Given the description of an element on the screen output the (x, y) to click on. 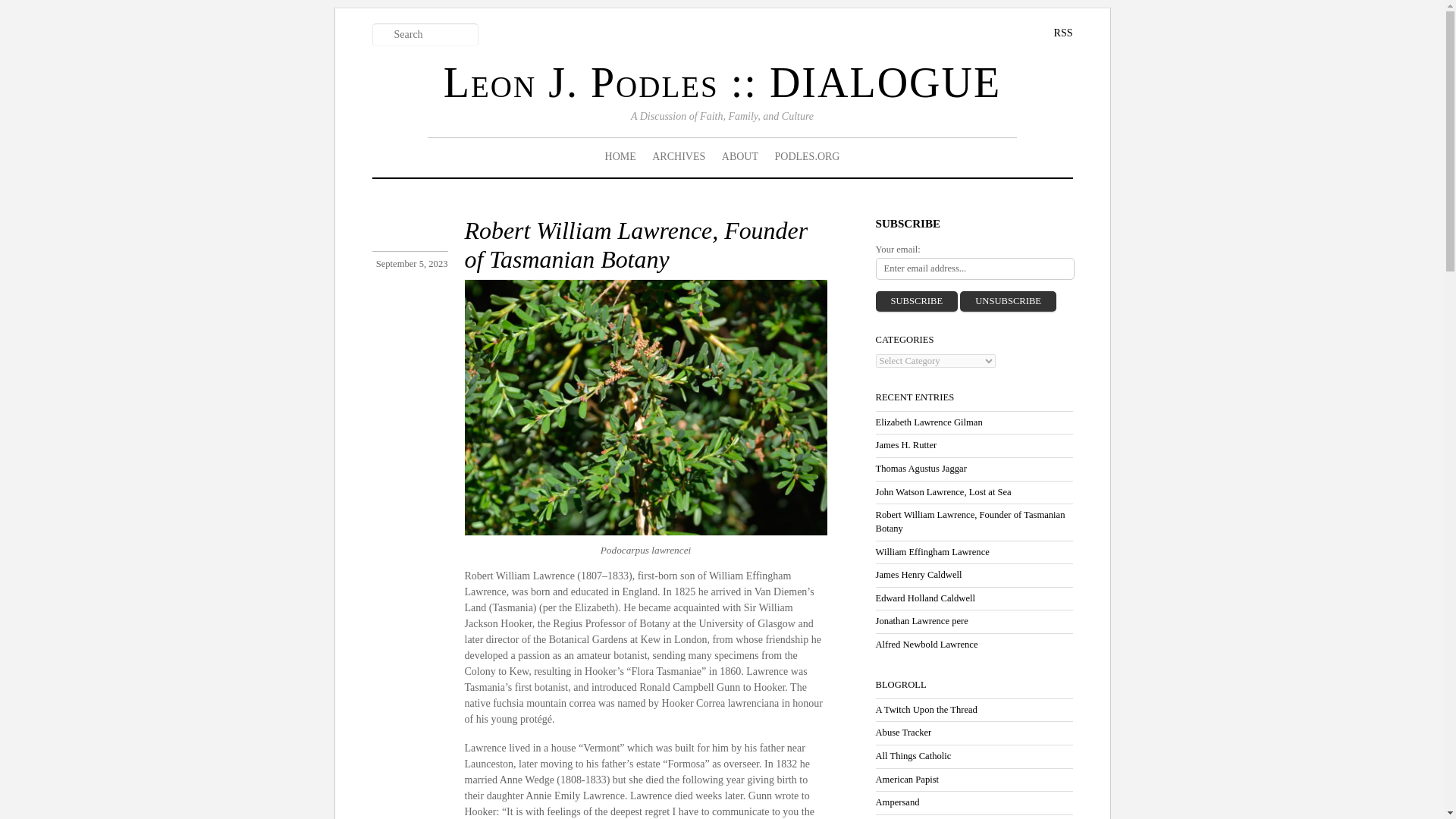
Enter email address... (974, 268)
Ampersand (896, 801)
Sandy Smith: poems, writing, opinions. (896, 801)
Leon J. Podles  :: DIALOGUE (722, 82)
American Papist (907, 778)
Leon J. Podles :: DIALOGUE (722, 82)
Robert William Lawrence, Founder of Tasmanian Botany (969, 521)
James H. Rutter (905, 444)
William Effingham Lawrence (931, 552)
Blog of Bill Cork, associate pastor in Houston, Texas. (925, 709)
James Henry Caldwell (917, 574)
Alfred Newbold Lawrence (925, 644)
RSS (1051, 32)
Unsubscribe (1008, 301)
Elizabeth Lawrence Gilman (928, 421)
